Given the description of an element on the screen output the (x, y) to click on. 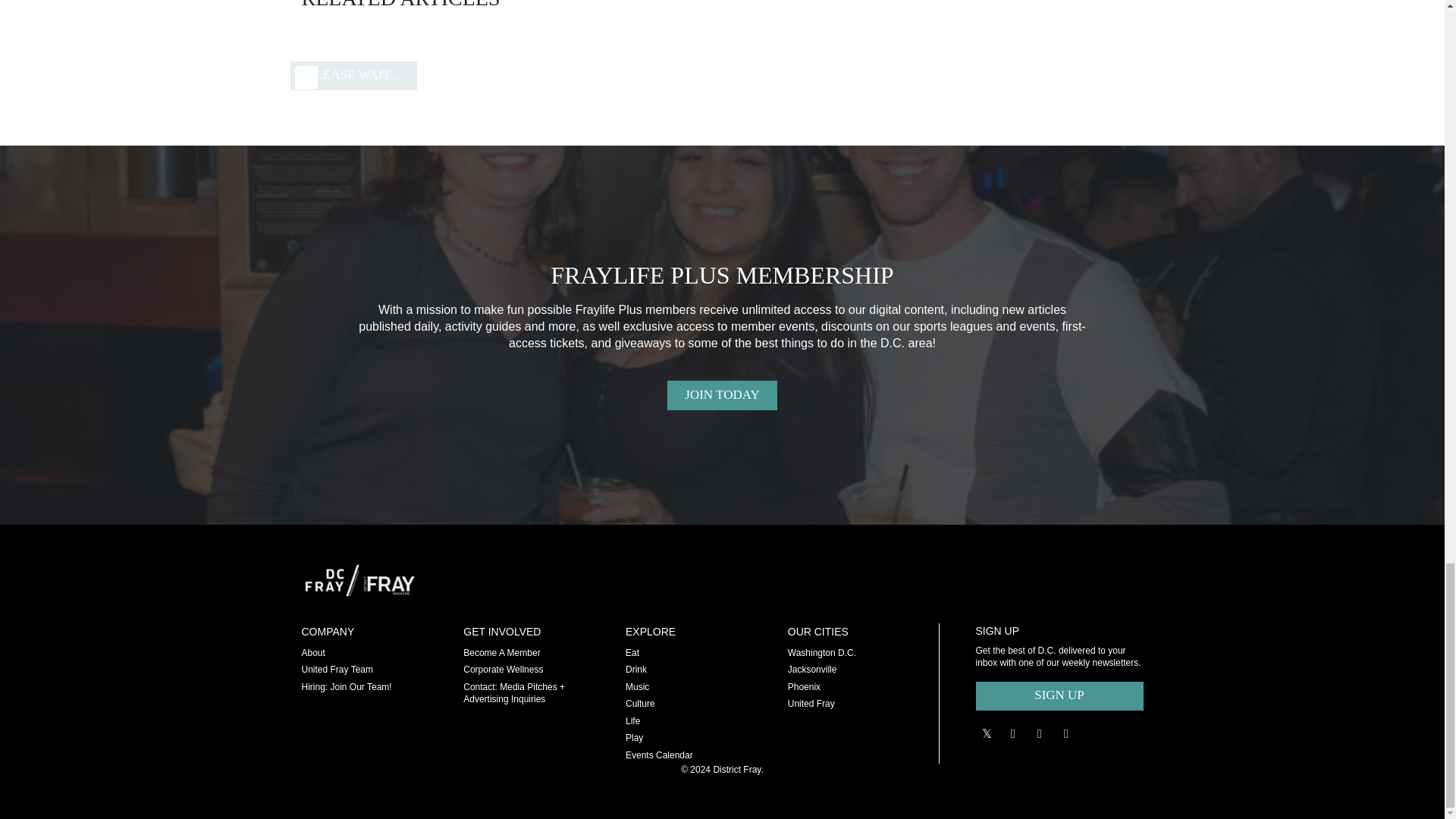
linkedin Share (1066, 733)
Twitter share (986, 733)
Google Plus Share (1014, 733)
Facebook share (1038, 733)
